Given the description of an element on the screen output the (x, y) to click on. 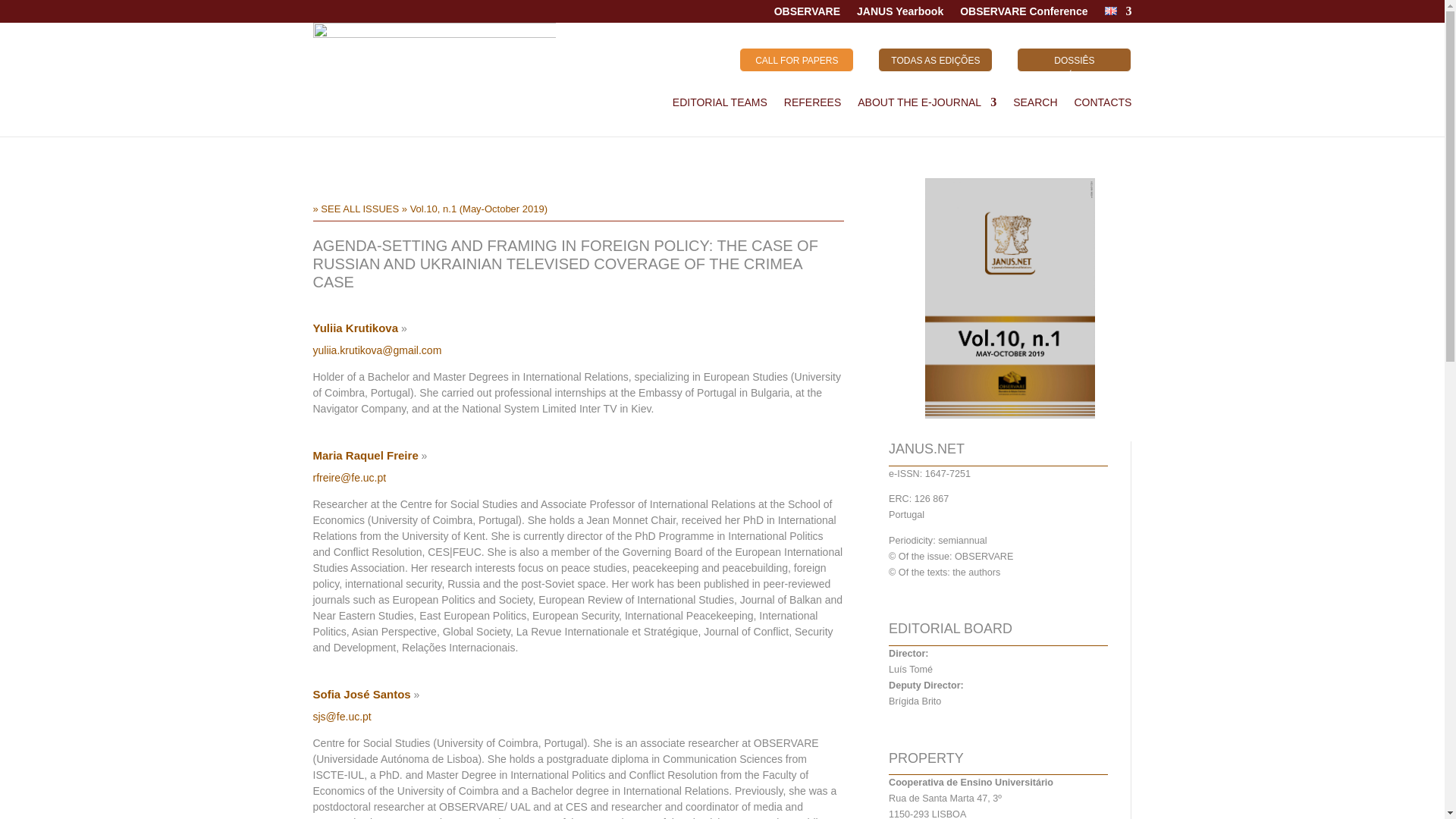
SEARCH (1035, 105)
EDITORIAL TEAMS (719, 105)
Maria Raquel Freire (365, 459)
CONTACTS (1102, 105)
CALL FOR PAPERS (796, 59)
Yuliia Krutikova (355, 332)
English (1109, 10)
JANUS Yearbook (900, 13)
REFEREES (812, 105)
ABOUT THE E-JOURNAL (926, 105)
OBSERVARE (807, 13)
logo-janusnet-hrz-cor (433, 57)
OBSERVARE Conference (1023, 13)
